Given the description of an element on the screen output the (x, y) to click on. 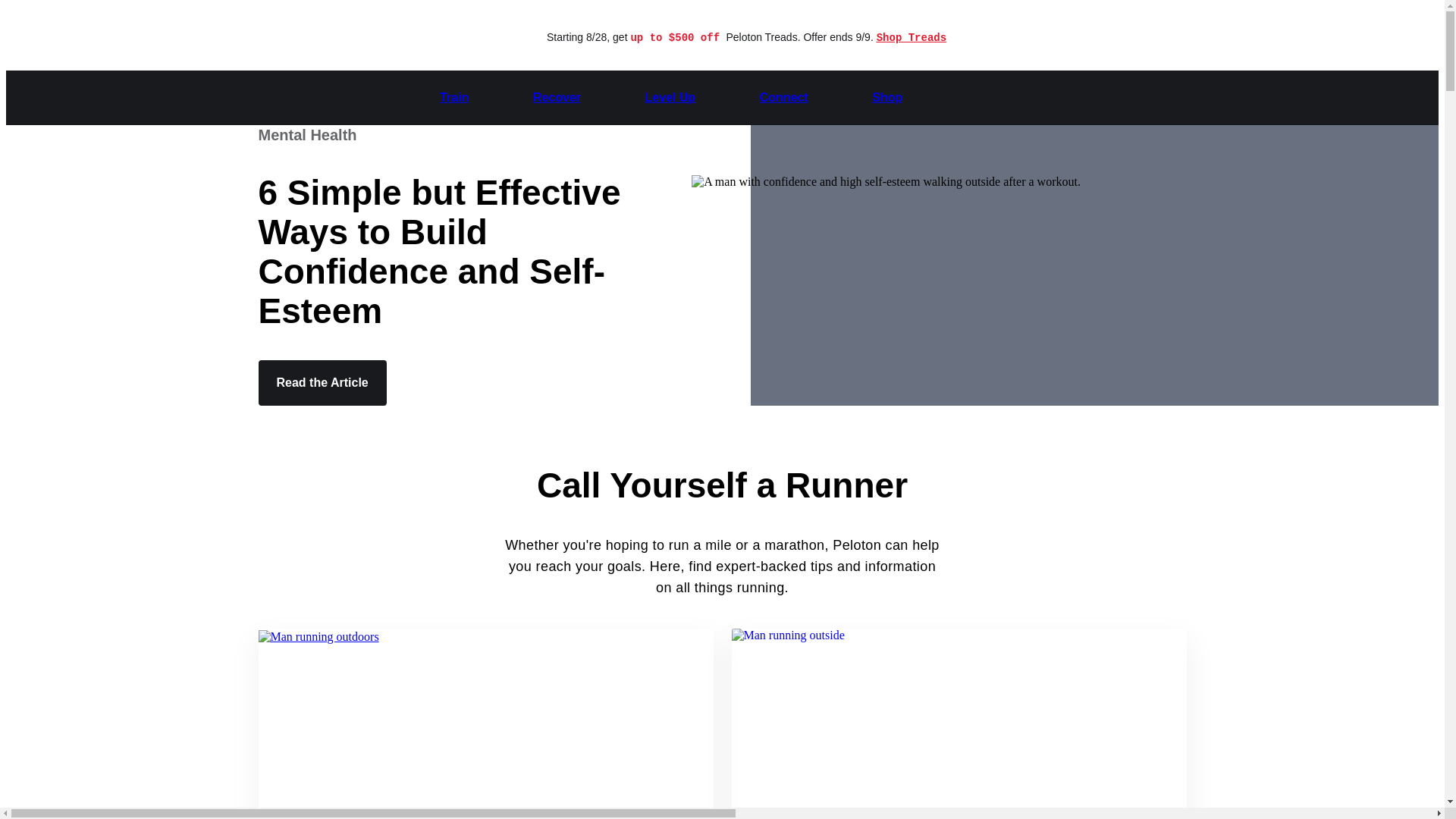
Train (453, 98)
Shop Treads (911, 37)
Read the Article (321, 382)
Connect (784, 98)
Level Up (670, 98)
Shop (887, 98)
Recover (556, 98)
